Given the description of an element on the screen output the (x, y) to click on. 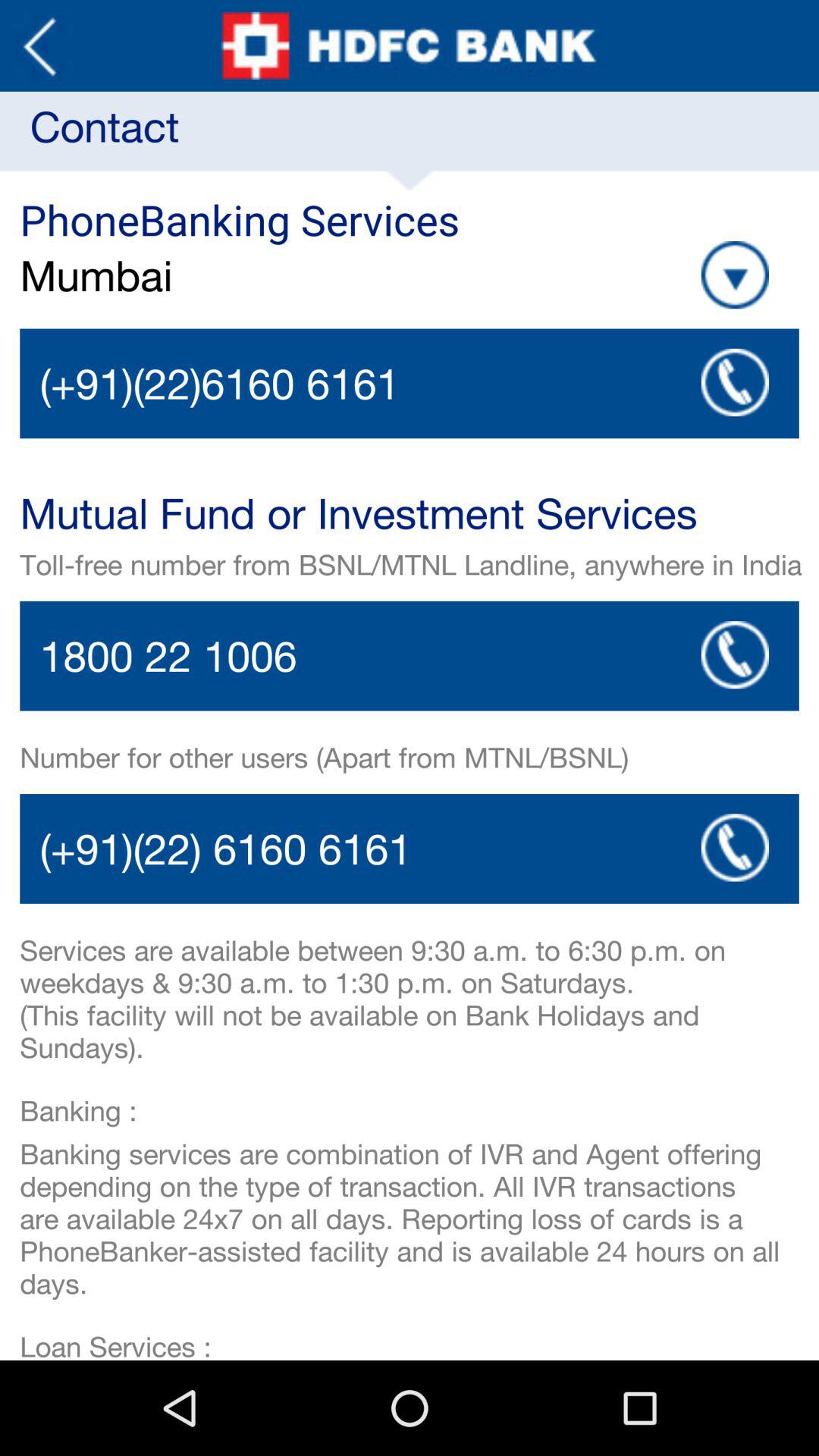
click icon below the contact icon (734, 274)
